Given the description of an element on the screen output the (x, y) to click on. 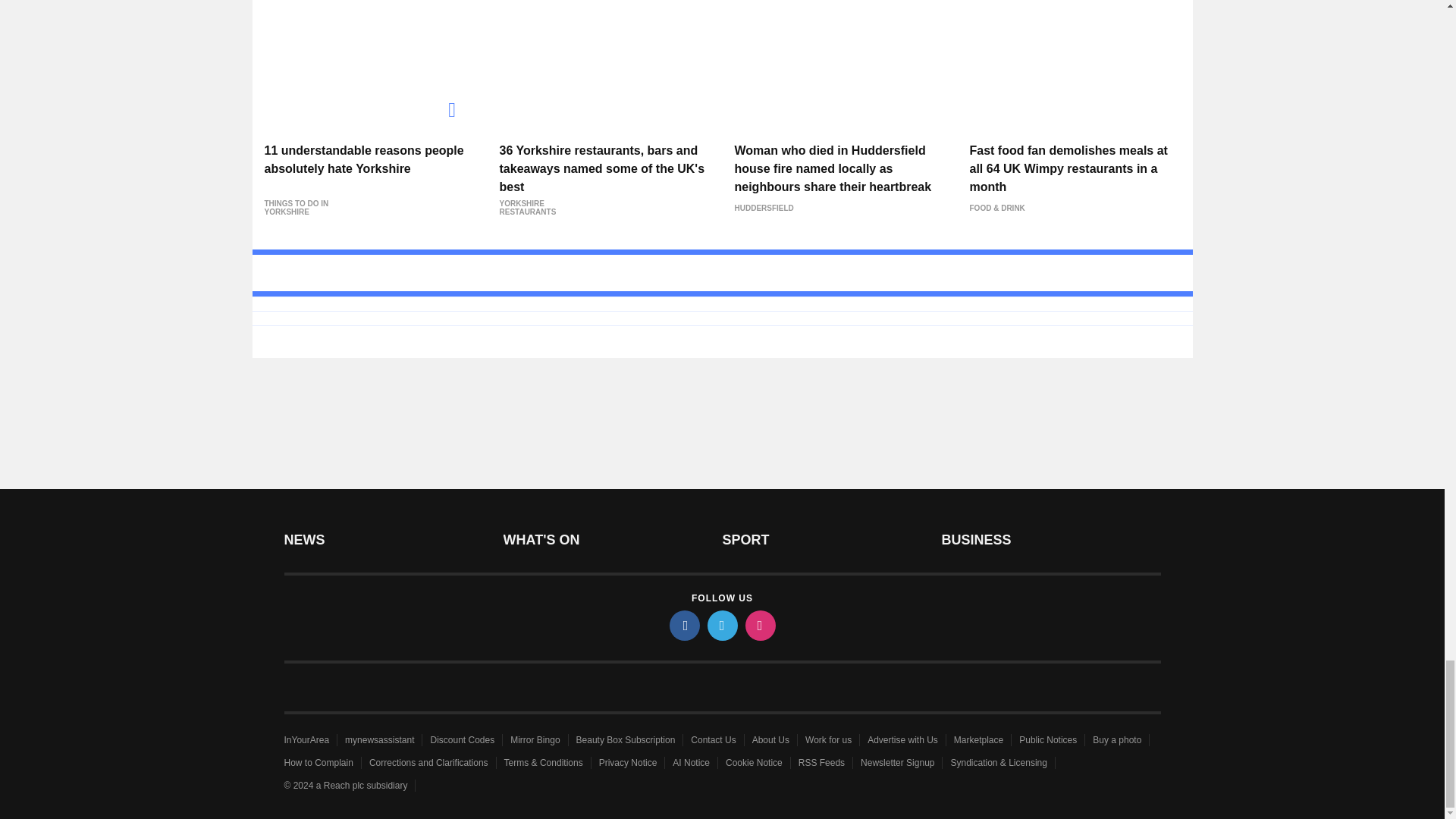
facebook (683, 625)
twitter (721, 625)
instagram (759, 625)
